Given the description of an element on the screen output the (x, y) to click on. 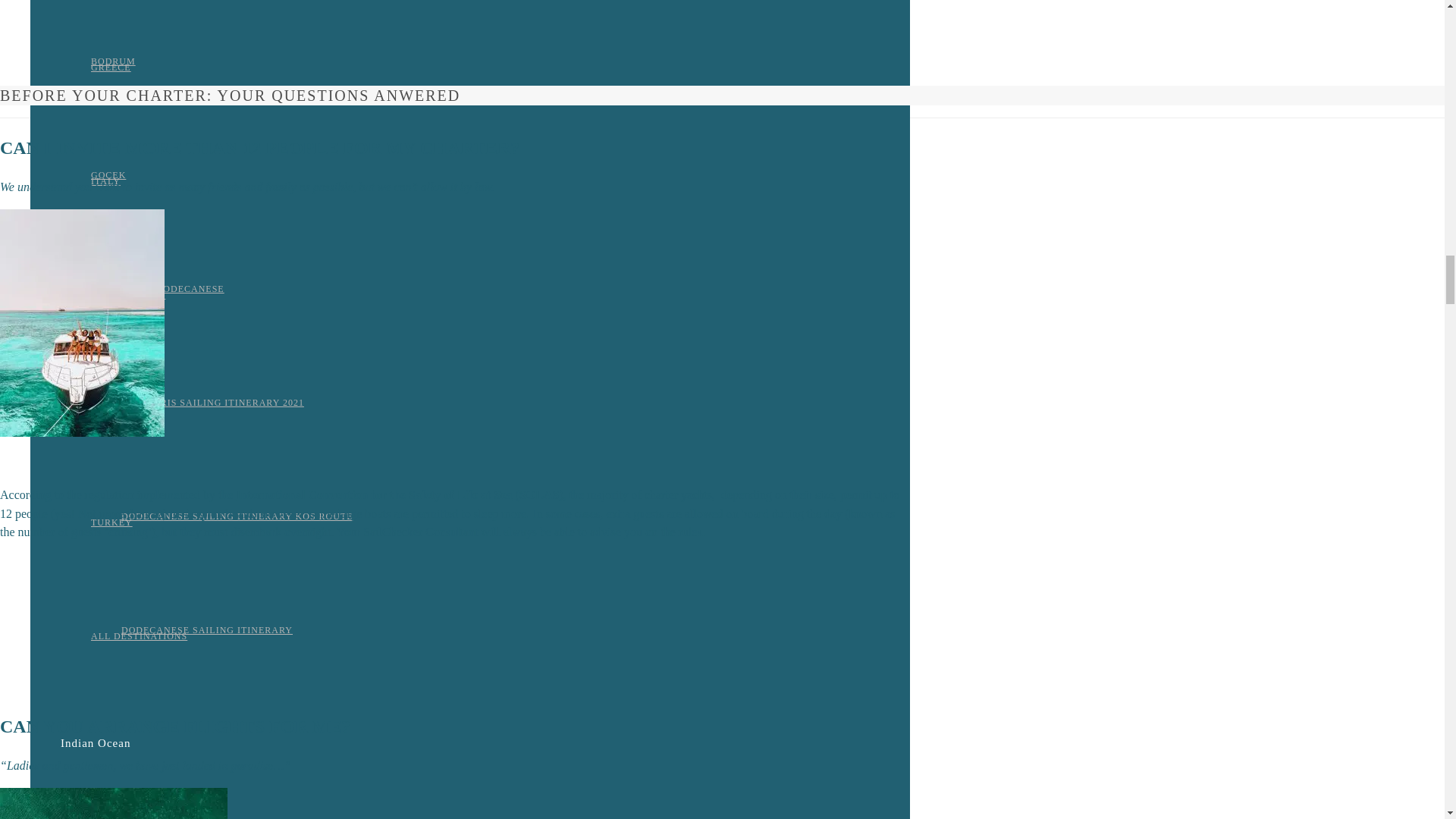
BODRUM (112, 61)
DODECANESE SAILING ITINERARY KOS ROUTE (236, 516)
NETHERLANDS (127, 294)
TURKEY (111, 521)
GREECE (110, 67)
MARMARIS SAILING ITINERARY 2021 (212, 402)
DODECANESE SAILING ITINERARY (206, 629)
SPAIN (105, 408)
GREECE (110, 67)
ITALY (105, 181)
NETHERLANDS (127, 294)
SPAIN (105, 408)
ITALY (105, 181)
ALL DESTINATIONS (138, 635)
GOCEK (107, 174)
